Given the description of an element on the screen output the (x, y) to click on. 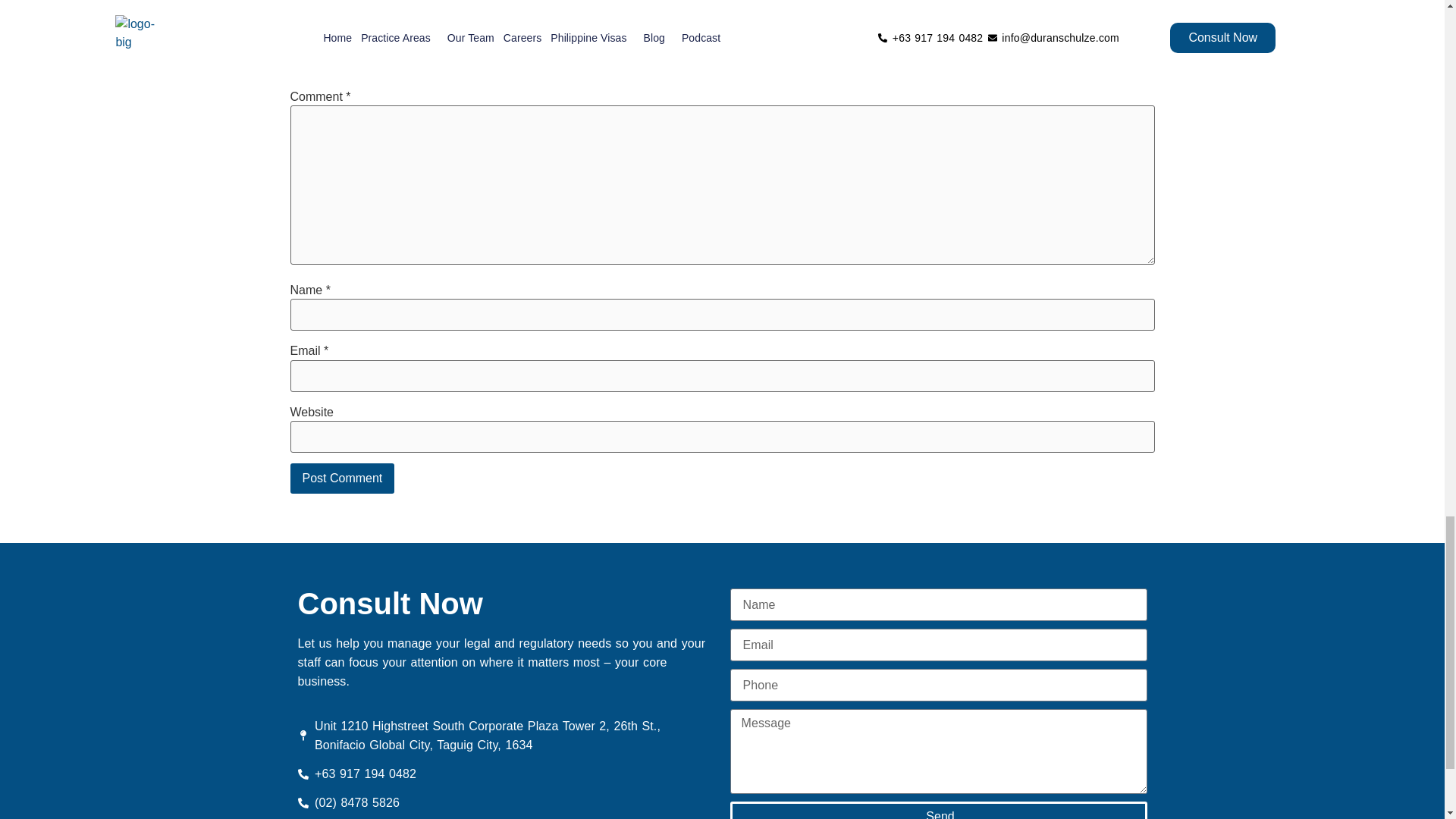
Post Comment (341, 478)
